Given the description of an element on the screen output the (x, y) to click on. 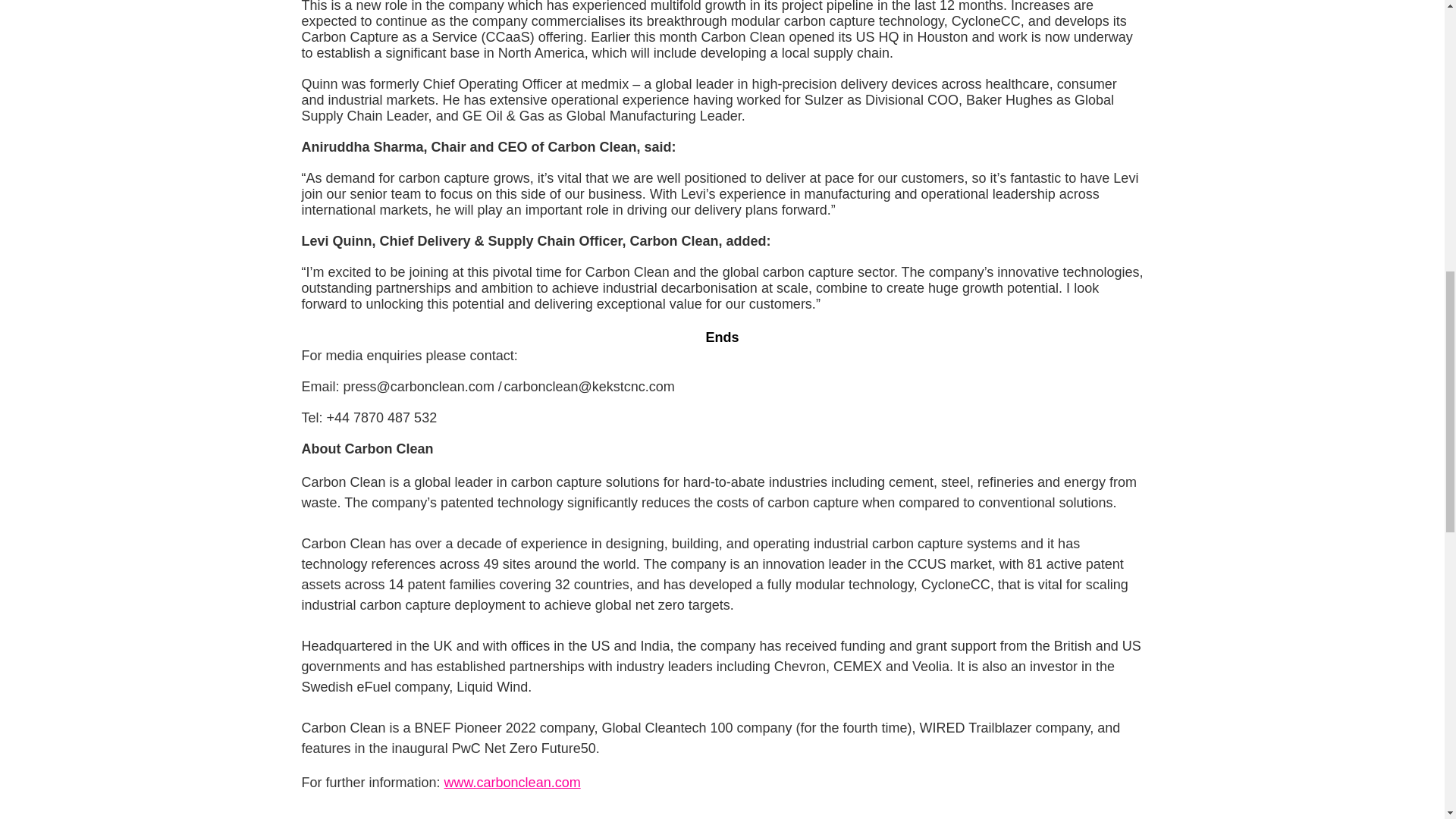
www.carbonclean.com (512, 782)
